Given the description of an element on the screen output the (x, y) to click on. 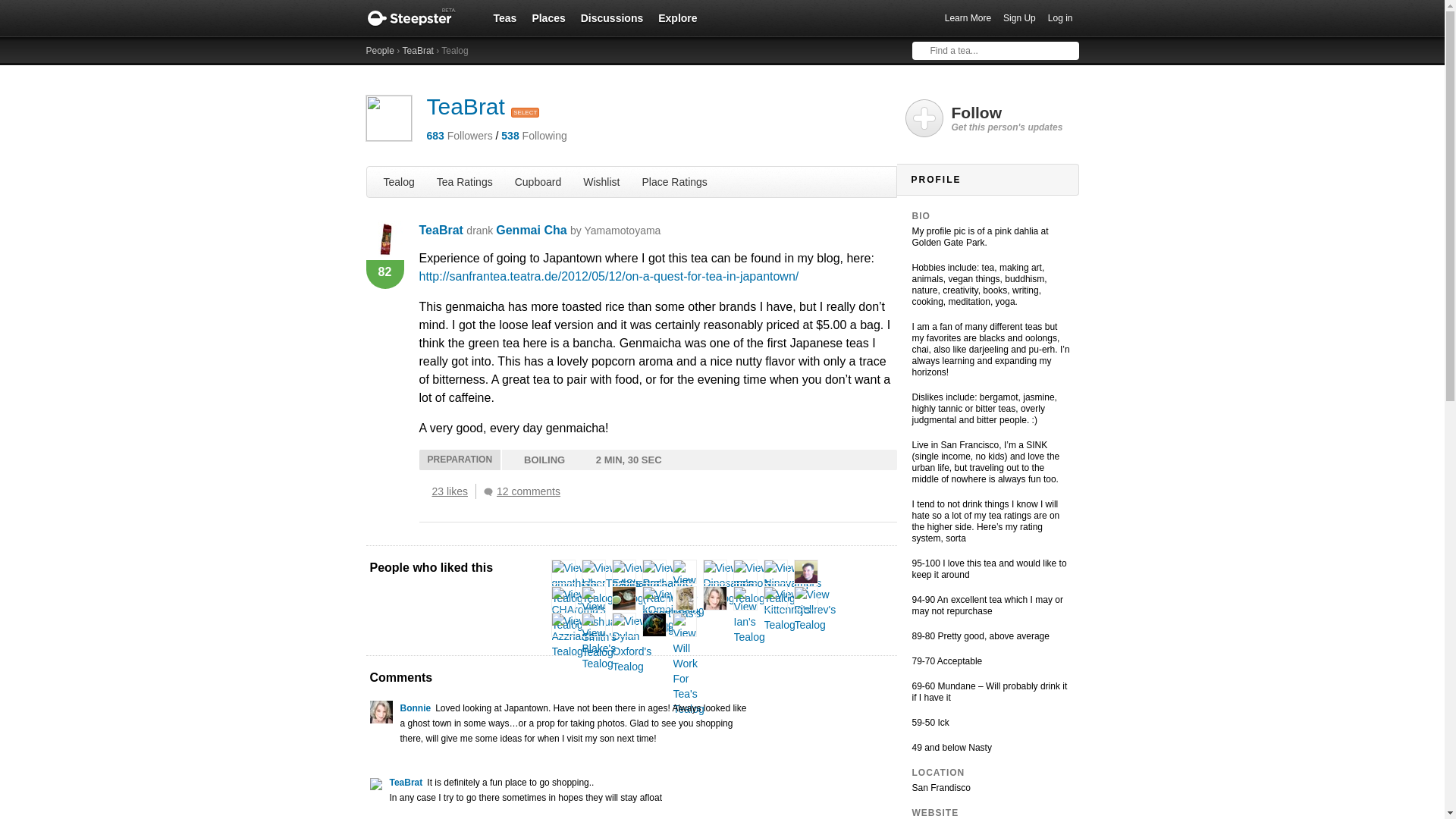
Explore (677, 17)
Learn More (968, 18)
Like This (423, 491)
I Like This (423, 491)
Tea Ratings (465, 181)
Steepster Select Member (524, 112)
23 likes (454, 491)
TeaBrat (464, 106)
Discussions (612, 17)
12 comments (525, 491)
